Given the description of an element on the screen output the (x, y) to click on. 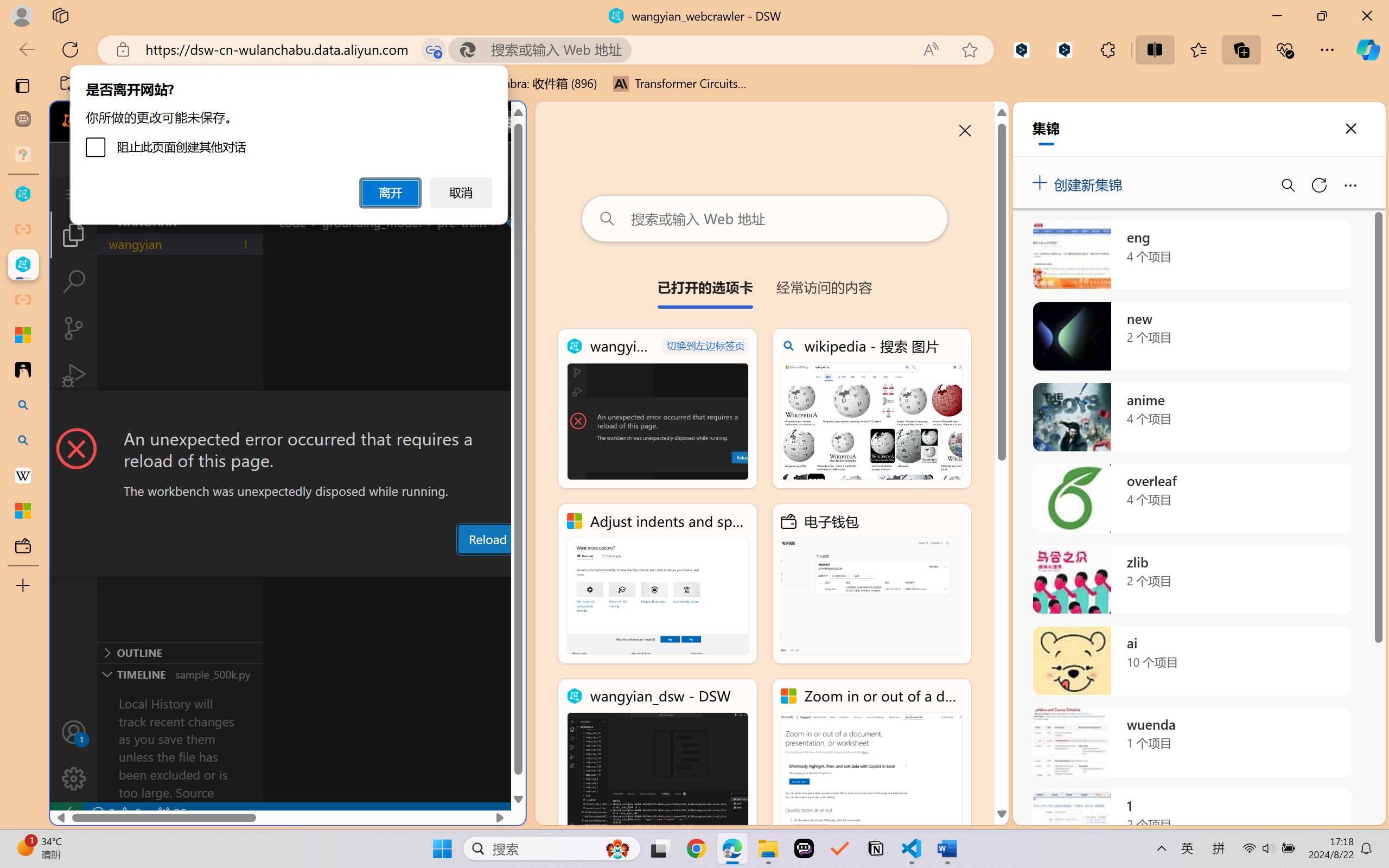
Transformer Circuits Thread (680, 83)
Terminal (Ctrl+`) (553, 565)
Copilot (Ctrl+Shift+.) (1368, 49)
Outline Section (179, 652)
wangyian_dsw - DSW (657, 758)
